Given the description of an element on the screen output the (x, y) to click on. 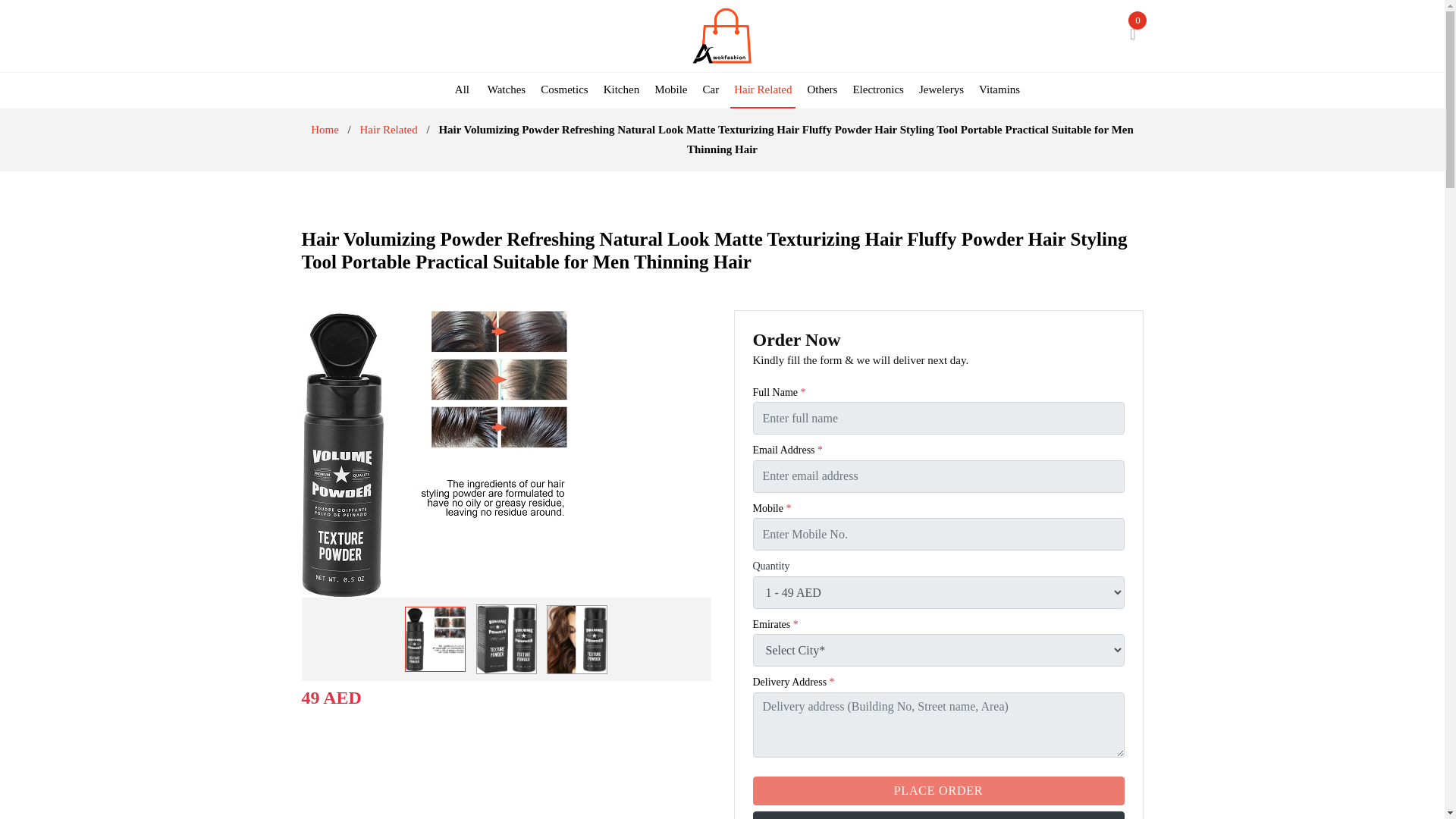
PLACE ORDER (938, 790)
Hair Related (762, 90)
Cosmetics (564, 89)
Mobile (670, 89)
Kitchen (621, 89)
Jewelerys (941, 89)
Hair Related (388, 129)
Electronics (877, 89)
Others (822, 89)
Vitamins (999, 89)
